Given the description of an element on the screen output the (x, y) to click on. 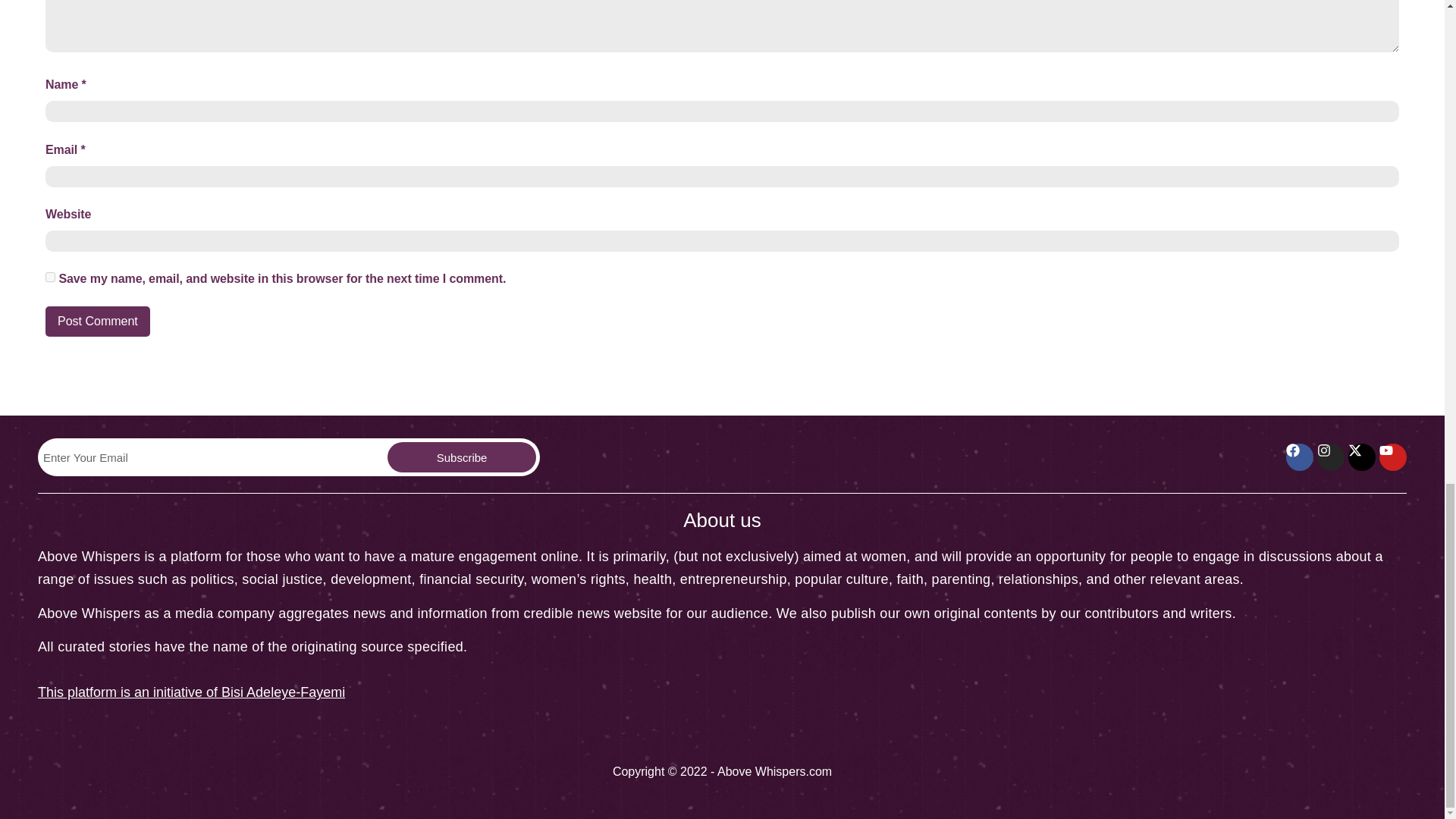
yes (50, 276)
Post Comment (97, 321)
